Given the description of an element on the screen output the (x, y) to click on. 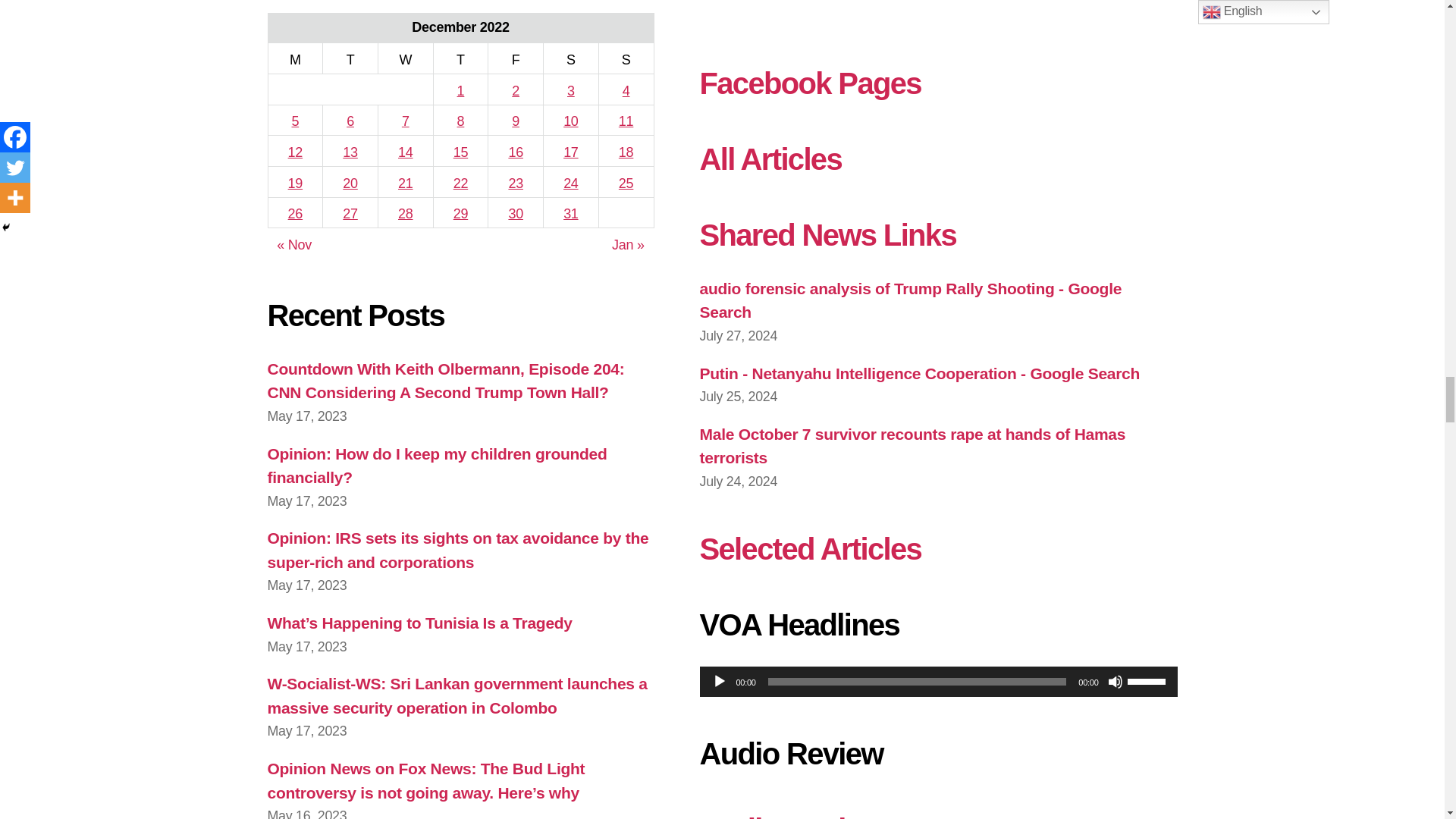
Friday (515, 58)
Monday (295, 58)
Saturday (570, 58)
Tuesday (350, 58)
Thursday (459, 58)
Wednesday (404, 58)
Sunday (625, 58)
